Given the description of an element on the screen output the (x, y) to click on. 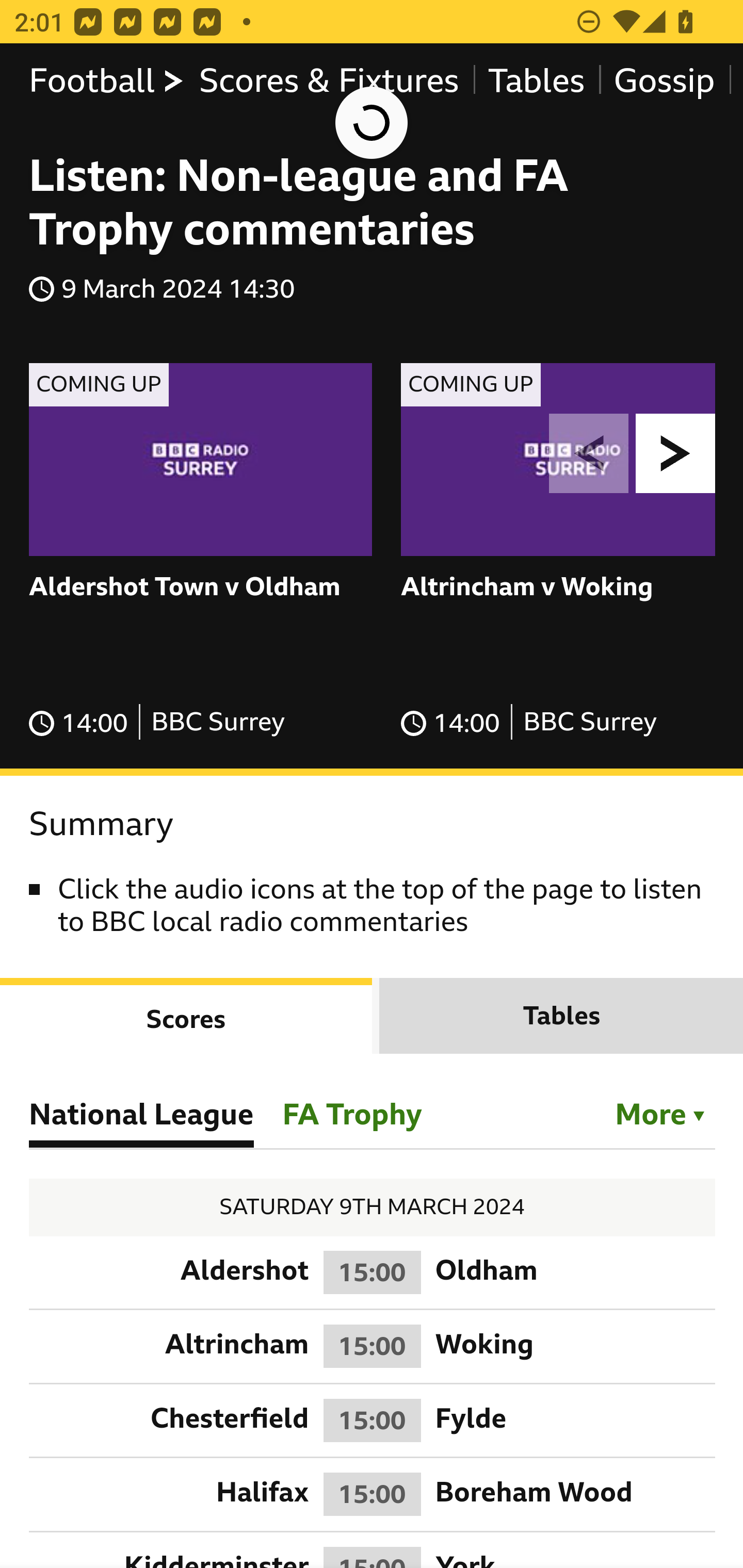
Football  (106, 81)
Scores & Fixtures (329, 81)
Tables (536, 81)
Gossip (664, 81)
previous (589, 452)
next (676, 452)
Scores (186, 1014)
Tables (560, 1014)
